Given the description of an element on the screen output the (x, y) to click on. 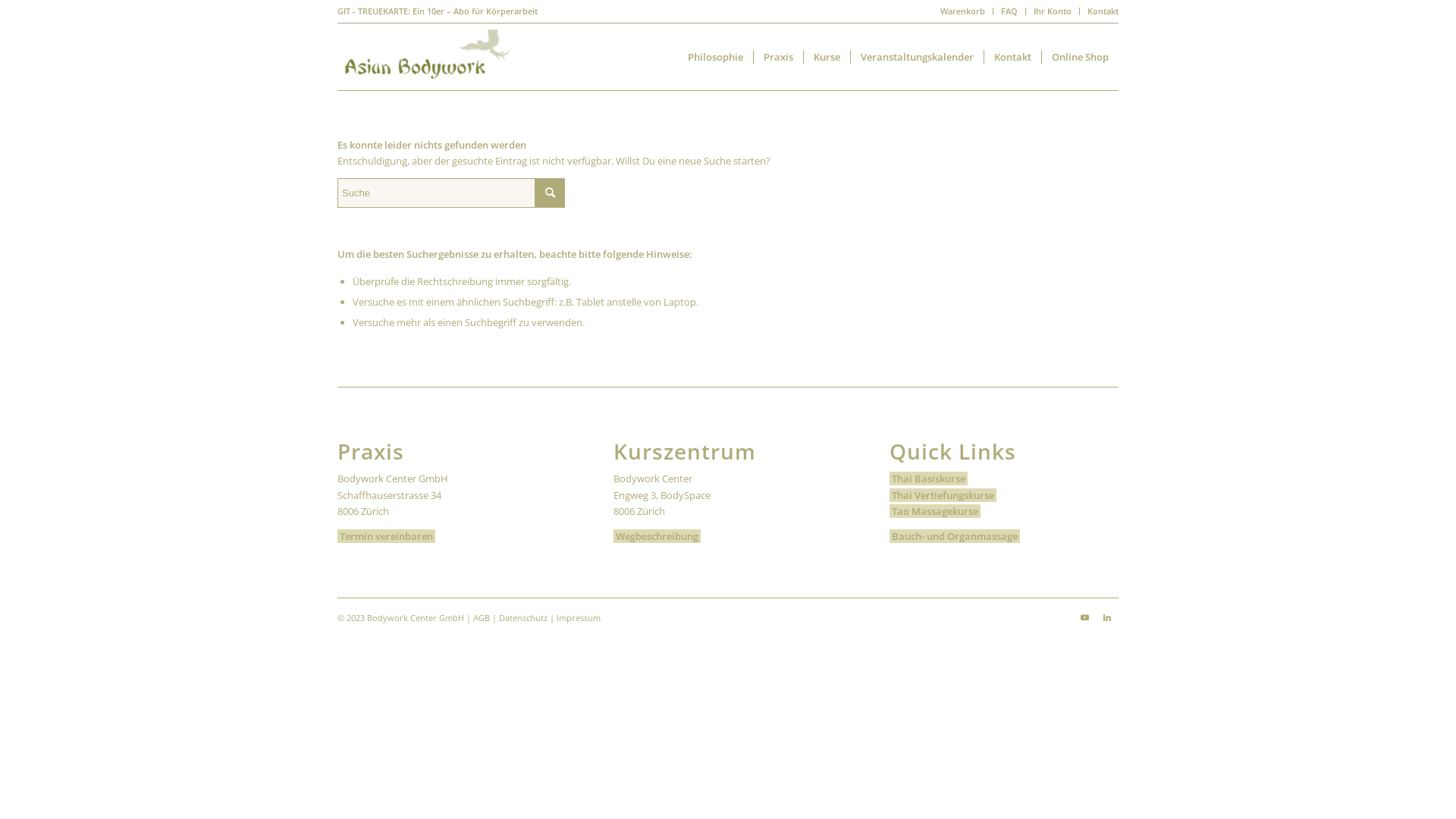
Thai Vertiefungskurse Element type: text (942, 495)
Youtube Element type: hover (1084, 616)
Kurse Element type: text (826, 56)
Kontakt Element type: text (1012, 56)
LinkedIn Element type: hover (1106, 616)
Philosophie Element type: text (715, 56)
Datenschutz Element type: text (522, 617)
Praxis Element type: text (778, 56)
Impressum Element type: text (578, 617)
Tao Massagekurse Element type: text (934, 510)
Ihr Konto Element type: text (1052, 10)
Kontakt Element type: text (1102, 10)
Termin vereinbaren Element type: text (386, 535)
AGB Element type: text (481, 617)
Bodywork Center GmbH Element type: text (415, 617)
FAQ Element type: text (1009, 10)
Thai Basiskurse Element type: text (928, 478)
Online Shop Element type: text (1079, 56)
Warenkorb Element type: text (962, 10)
Veranstaltungskalender Element type: text (916, 56)
Wegbeschreibung Element type: text (656, 535)
Bauch- und Organmassage Element type: text (954, 535)
